Given the description of an element on the screen output the (x, y) to click on. 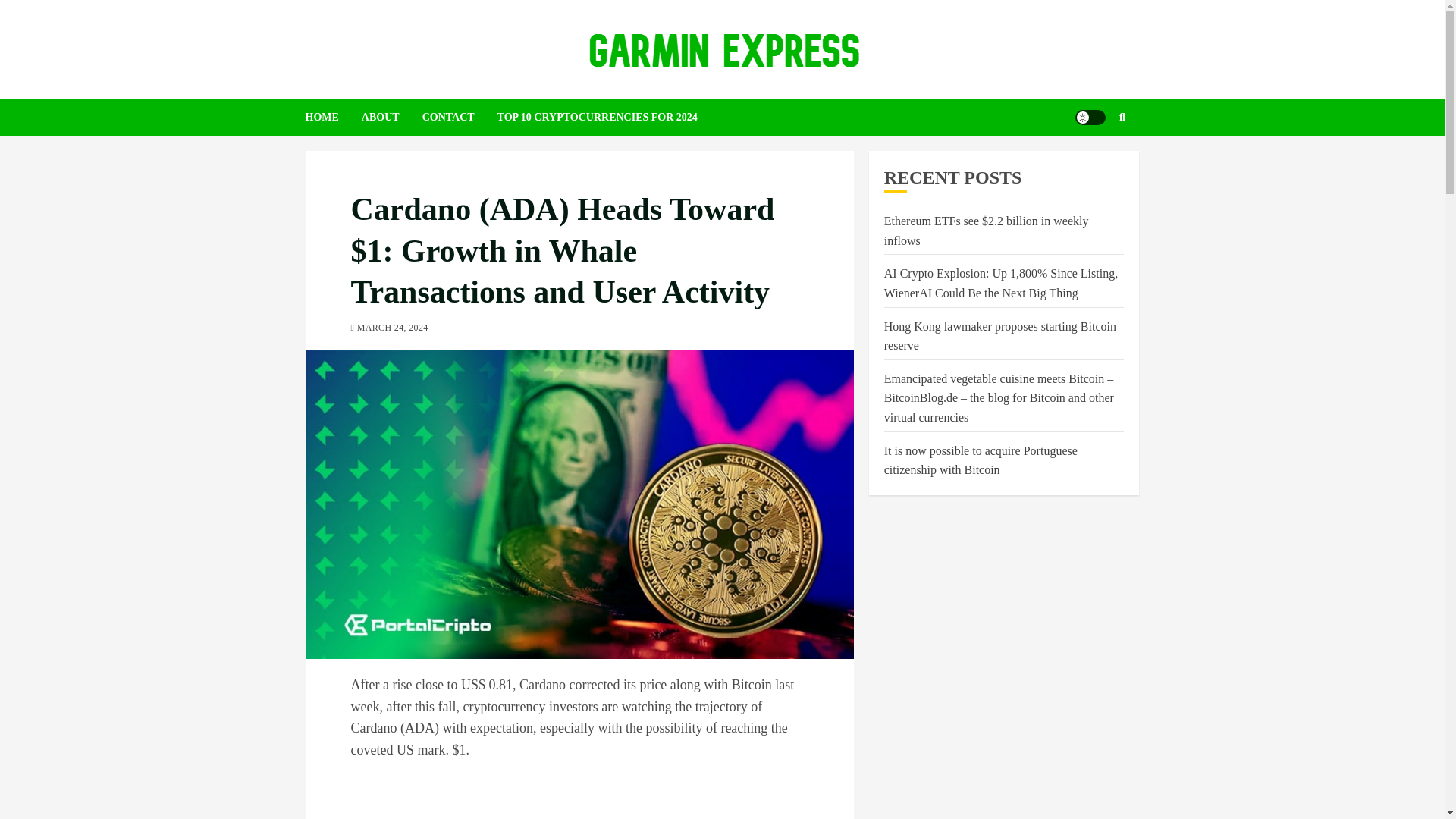
TOP 10 CRYPTOCURRENCIES FOR 2024 (608, 116)
ABOUT (391, 116)
Hong Kong lawmaker proposes starting Bitcoin reserve (999, 336)
HOME (332, 116)
MARCH 24, 2024 (392, 328)
CONTACT (459, 116)
Search (1092, 162)
